Given the description of an element on the screen output the (x, y) to click on. 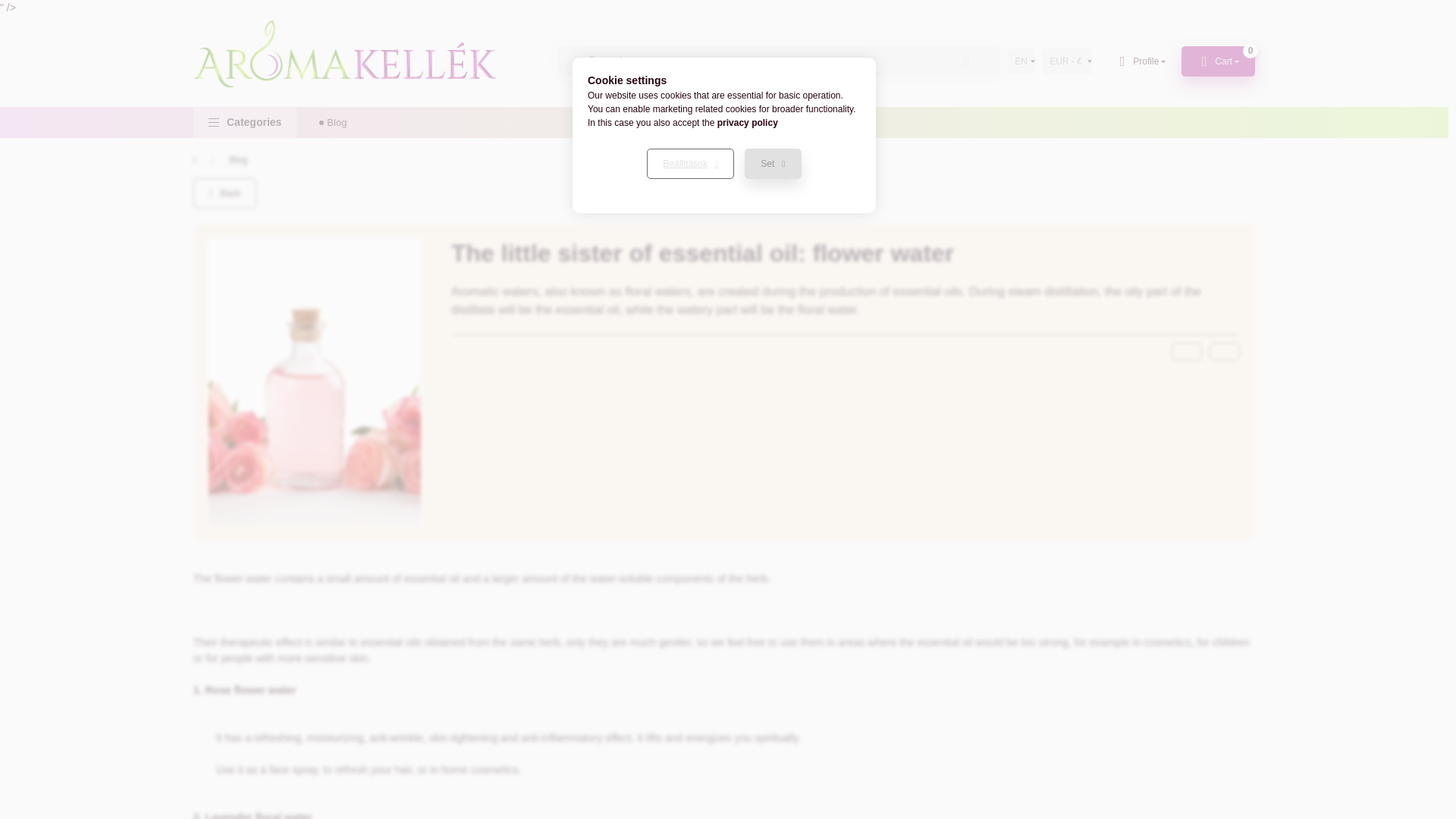
Blog (336, 122)
Enter a longer search term! (1217, 60)
Blog (778, 60)
Categories (237, 160)
Profile (245, 122)
Search (1139, 60)
